Given the description of an element on the screen output the (x, y) to click on. 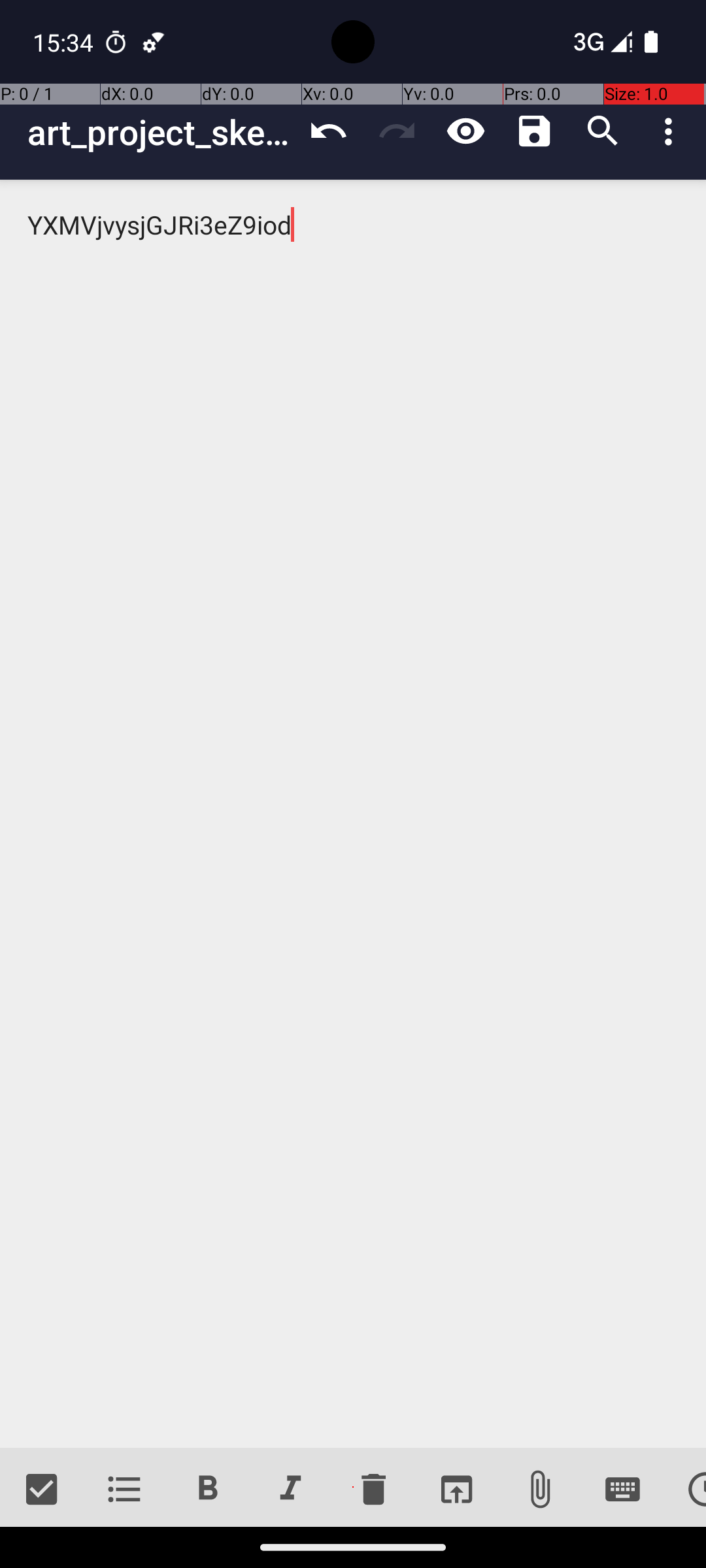
art_project_sketches_backup Element type: android.widget.TextView (160, 131)
YXMVjvysjGJRi3eZ9iod Element type: android.widget.EditText (353, 813)
